Given the description of an element on the screen output the (x, y) to click on. 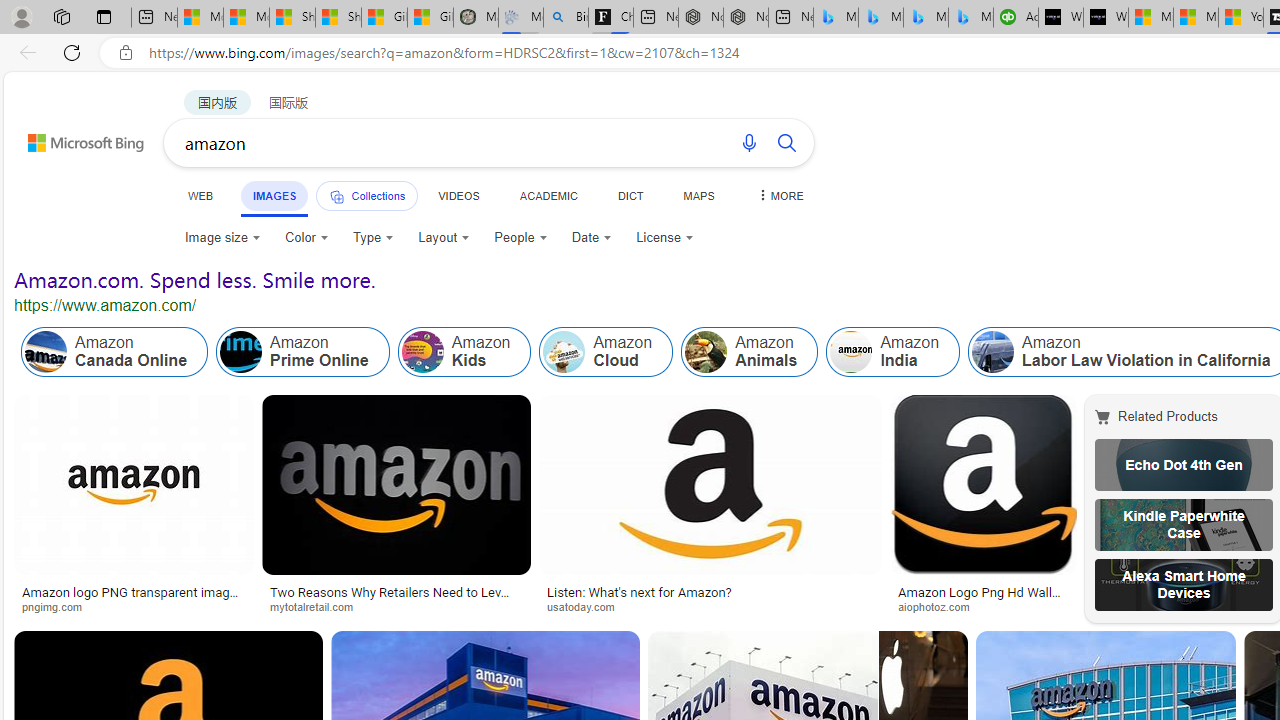
Search using voice (748, 142)
VIDEOS (458, 195)
Listen: What's next for Amazon? (639, 592)
Layout (443, 237)
License (665, 237)
IMAGES (274, 196)
License (664, 237)
Alexa Smart Home Devices (1183, 584)
Listen: What's next for Amazon?usatoday.comSave (713, 508)
Layout (443, 237)
Type (372, 237)
Dropdown Menu (779, 195)
Microsoft Bing Travel - Shangri-La Hotel Bangkok (970, 17)
